Given the description of an element on the screen output the (x, y) to click on. 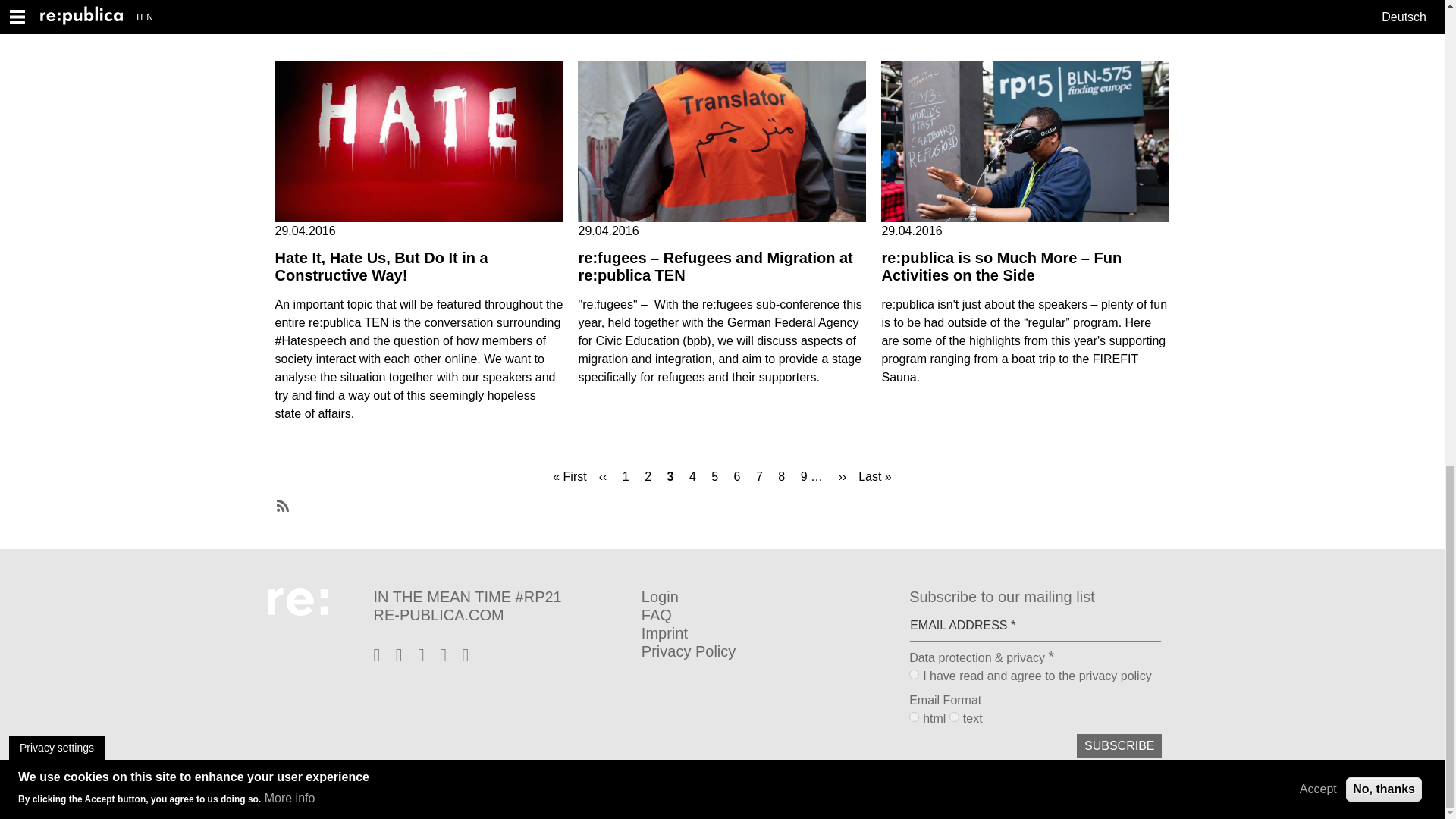
Go to first page (569, 476)
Subscribe (1119, 745)
text (954, 716)
hate.jpg (418, 141)
Go to previous page (603, 476)
migration.jpg (722, 141)
html (913, 716)
